Given the description of an element on the screen output the (x, y) to click on. 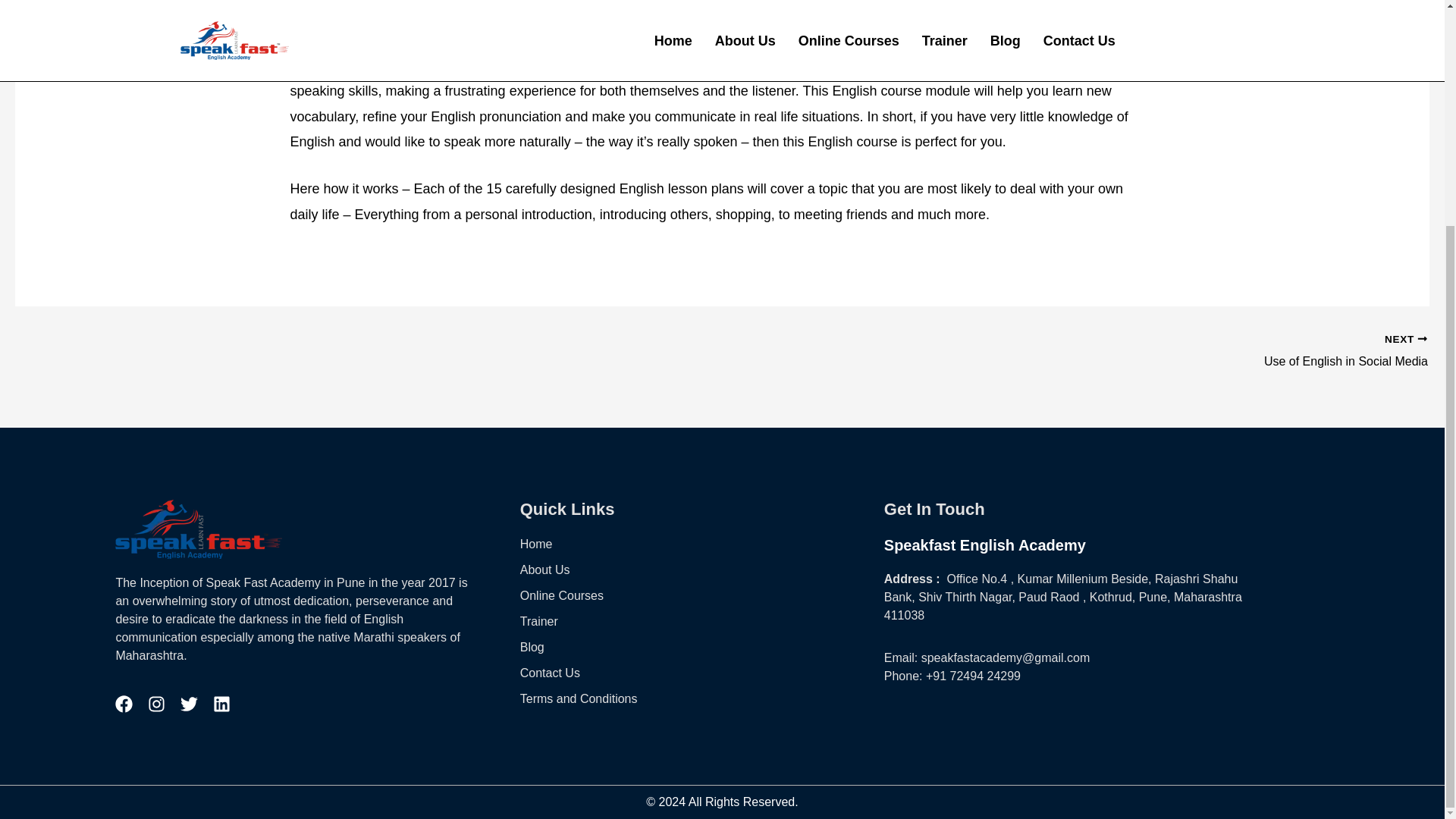
Twitter (189, 703)
Online Courses (701, 596)
About Us (701, 570)
Contact Us (1074, 351)
Blog (701, 673)
Trainer (701, 647)
Facebook (701, 621)
Home (123, 703)
Use of English in Social Media (701, 544)
Instagram (1074, 351)
Linkedin (156, 703)
Terms and Conditions (221, 703)
